Given the description of an element on the screen output the (x, y) to click on. 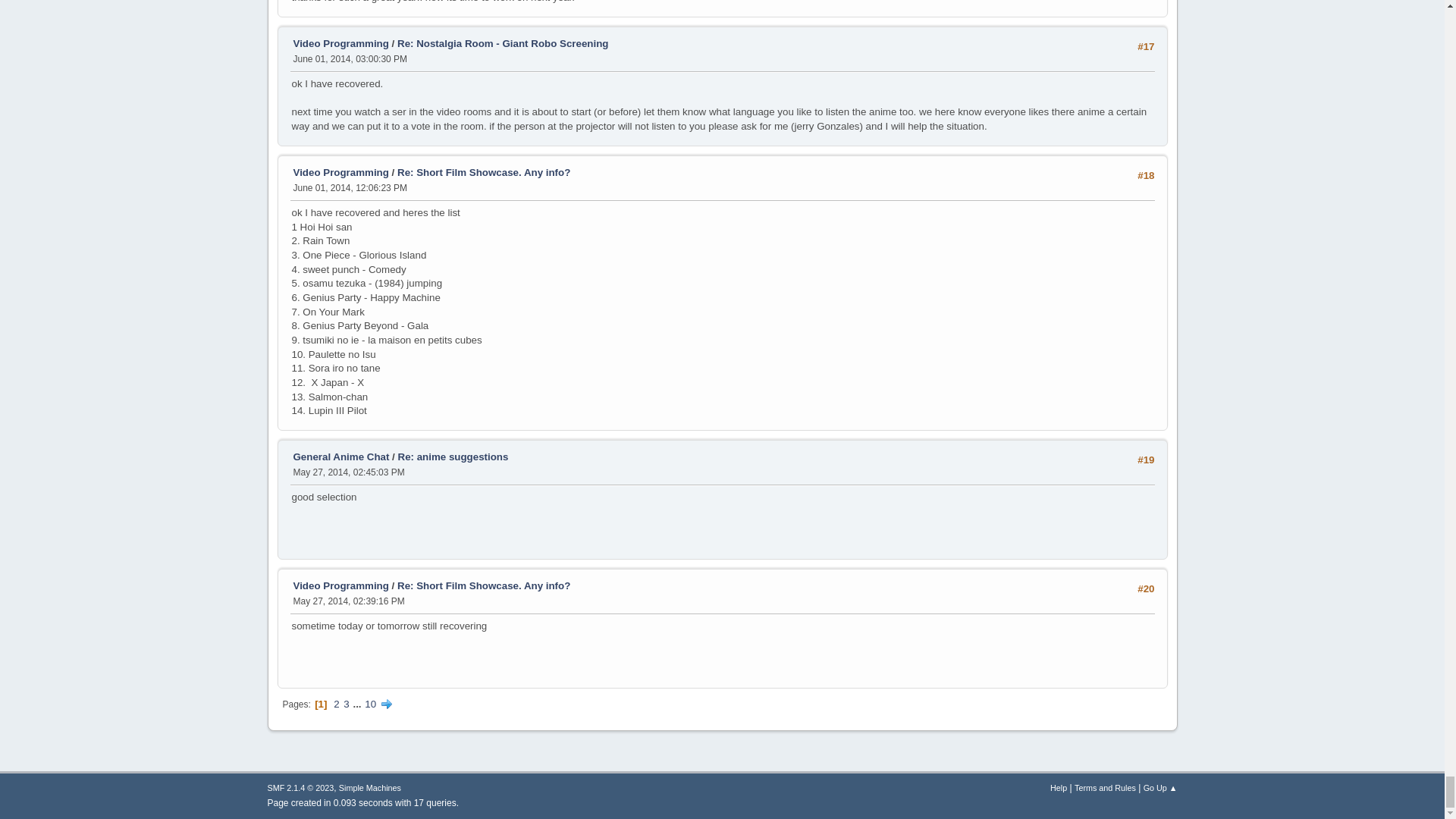
License (299, 787)
Simple Machines (370, 787)
